Given the description of an element on the screen output the (x, y) to click on. 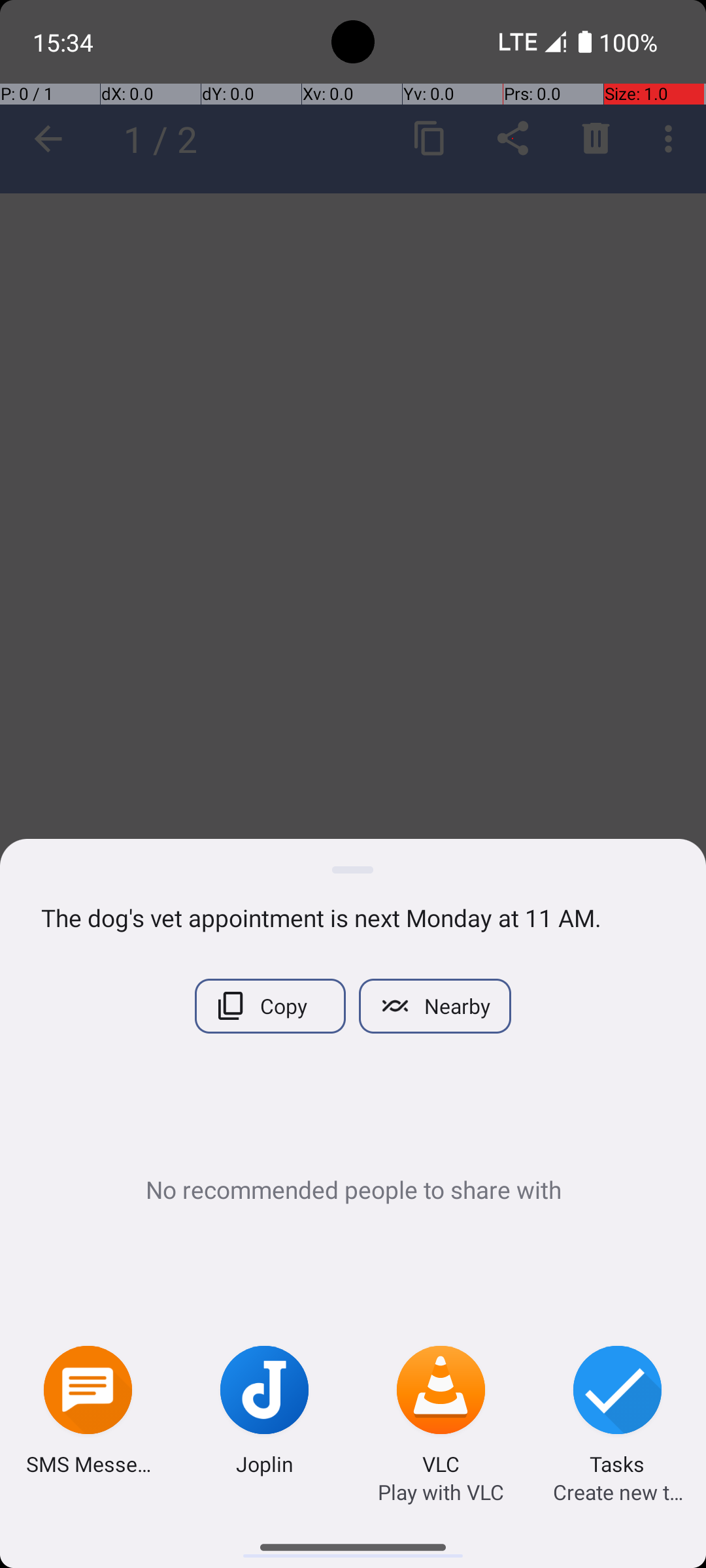
The dog's vet appointment is next Monday at 11 AM. Element type: android.widget.TextView (352, 917)
